Given the description of an element on the screen output the (x, y) to click on. 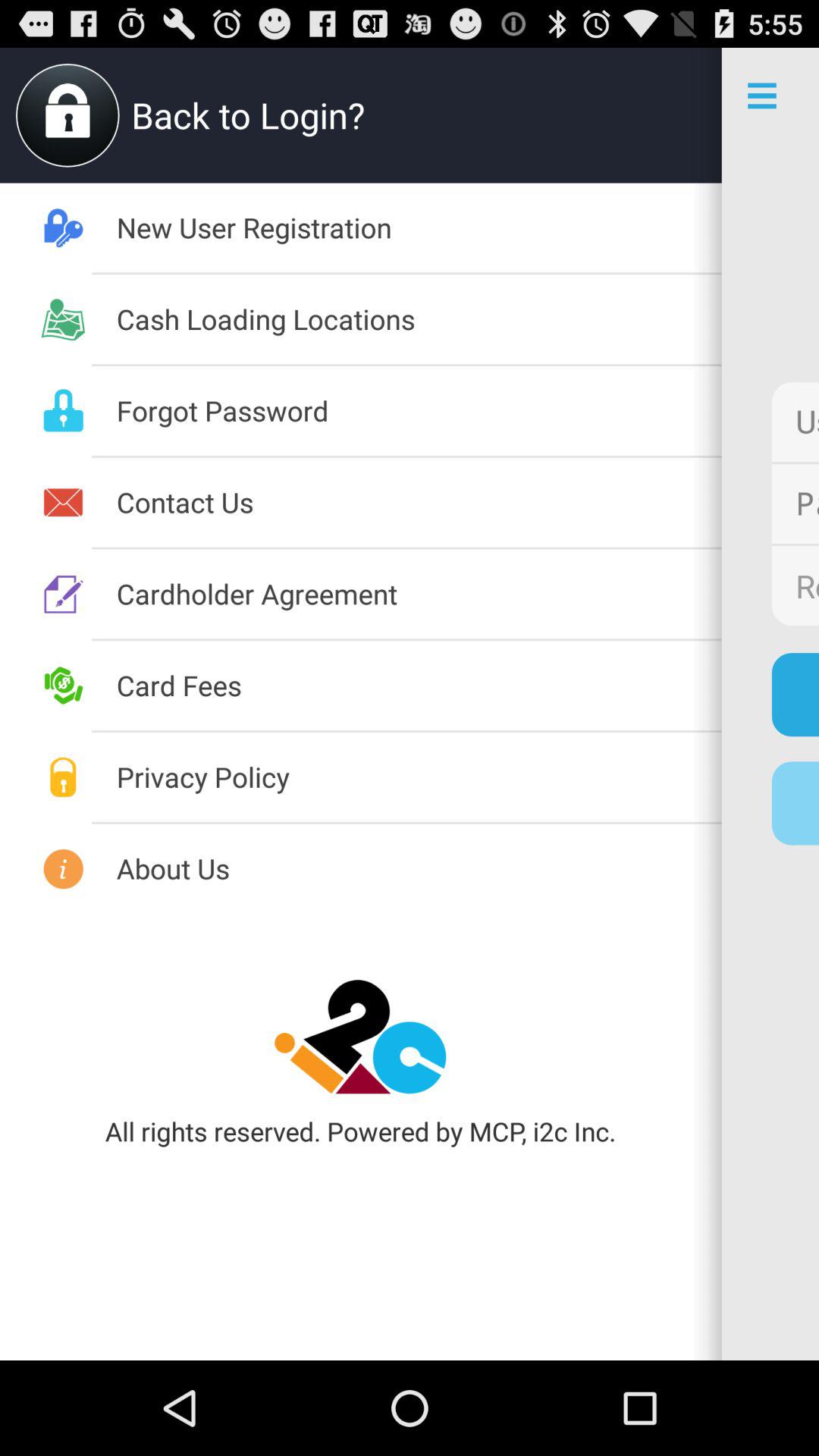
select the item next to the back to login? app (67, 115)
